Given the description of an element on the screen output the (x, y) to click on. 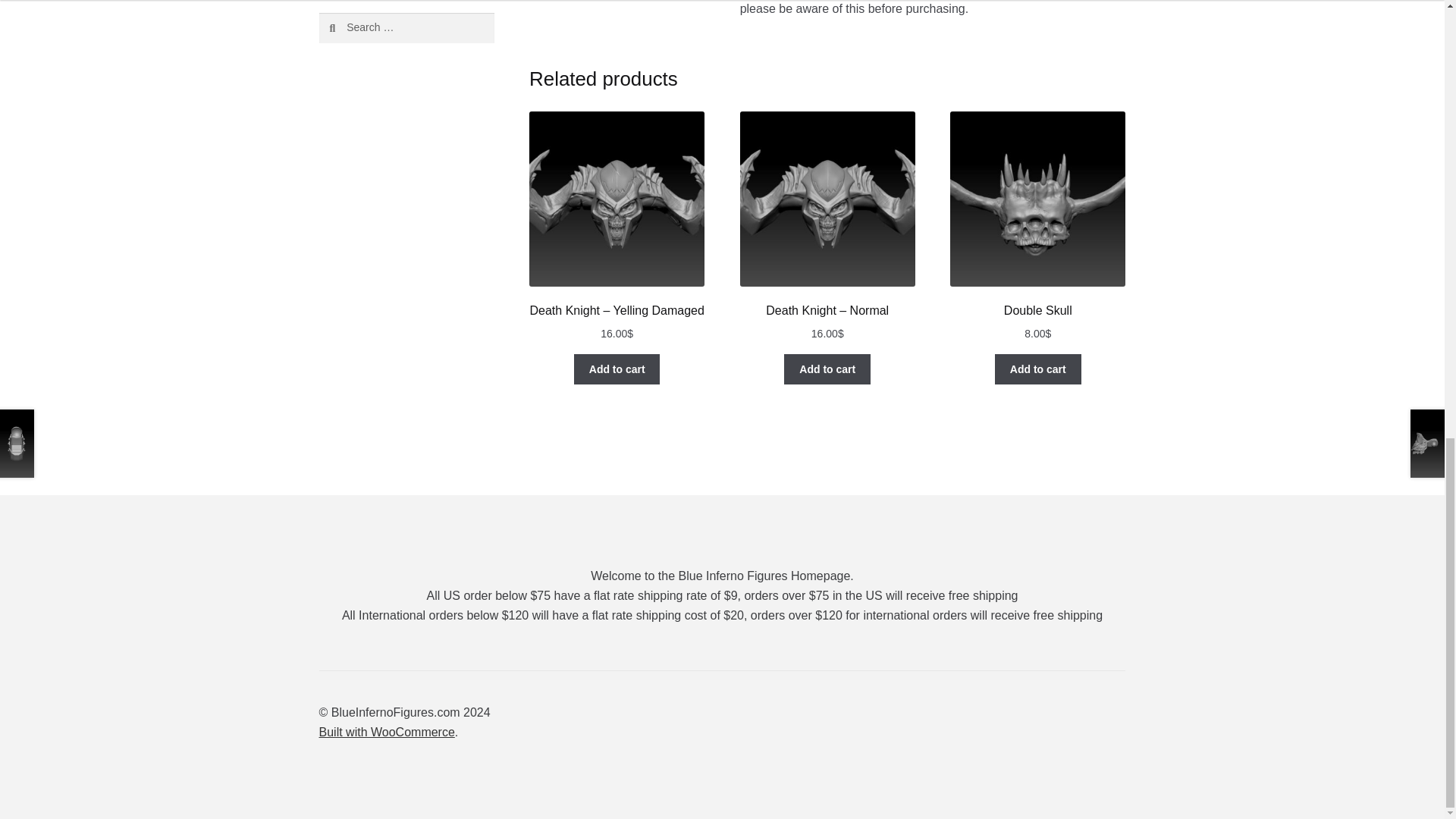
WooCommerce - The Best eCommerce Platform for WordPress (386, 731)
